Given the description of an element on the screen output the (x, y) to click on. 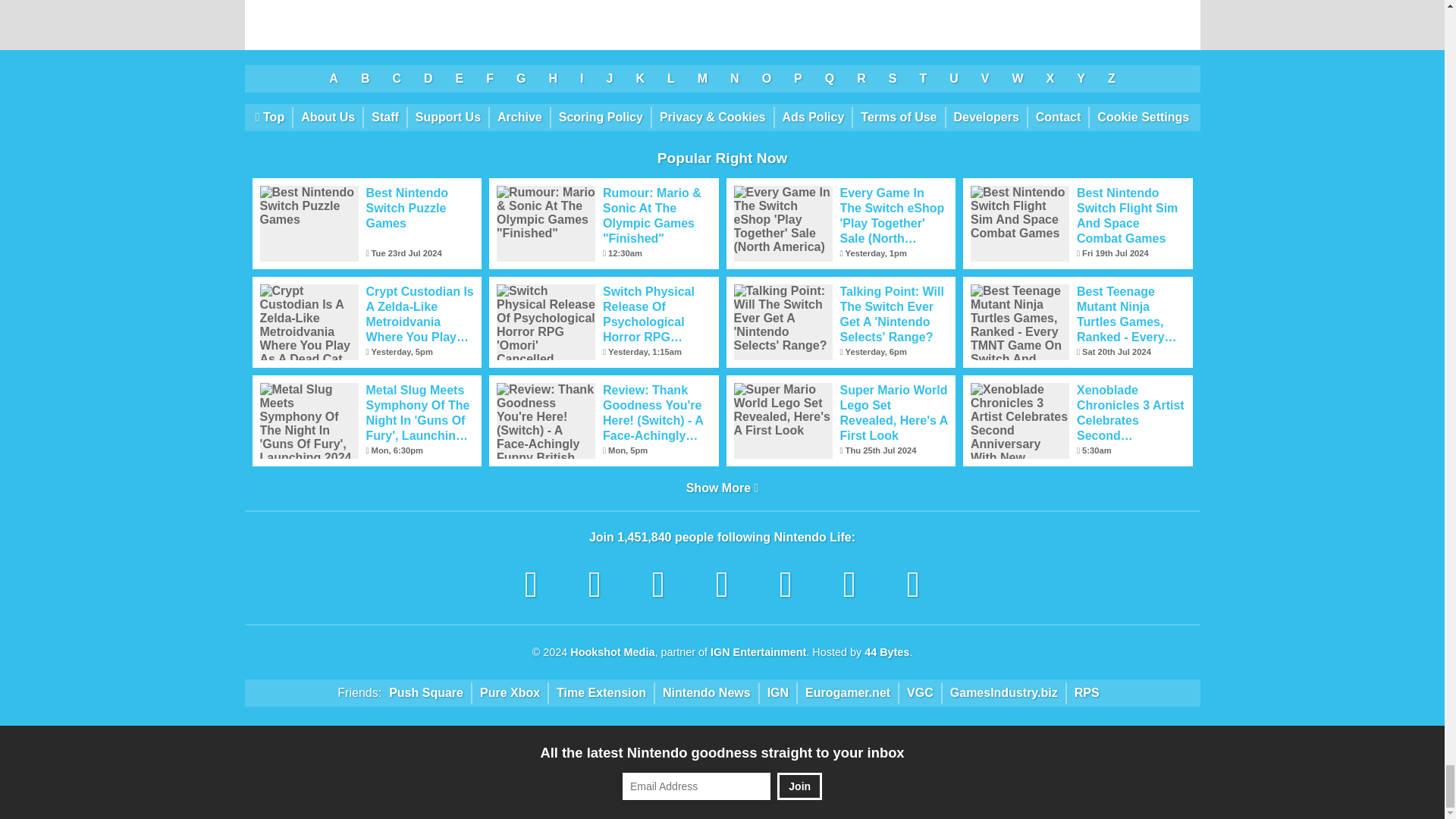
Join (799, 786)
